Given the description of an element on the screen output the (x, y) to click on. 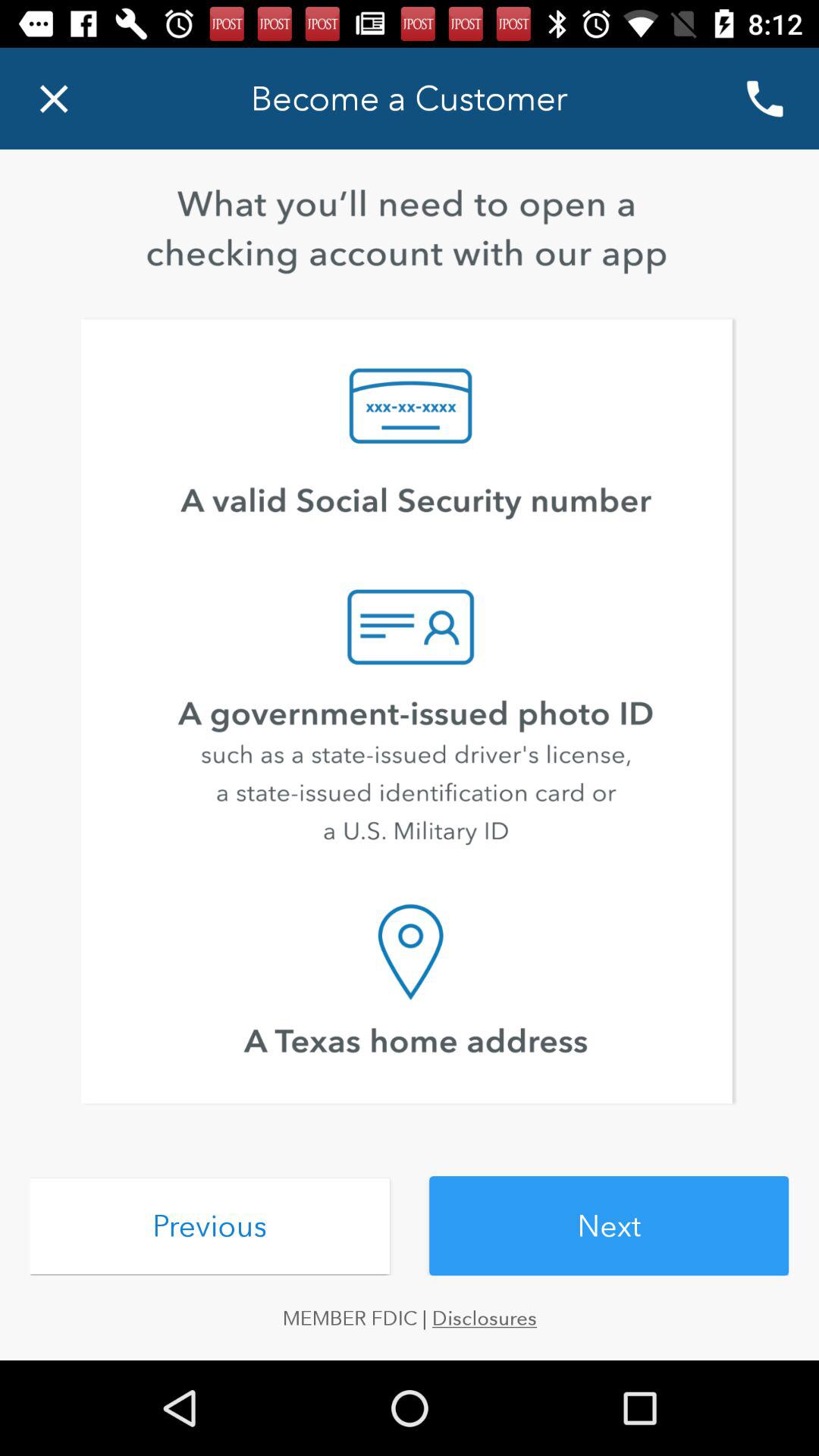
open icon at the bottom right corner (608, 1225)
